Given the description of an element on the screen output the (x, y) to click on. 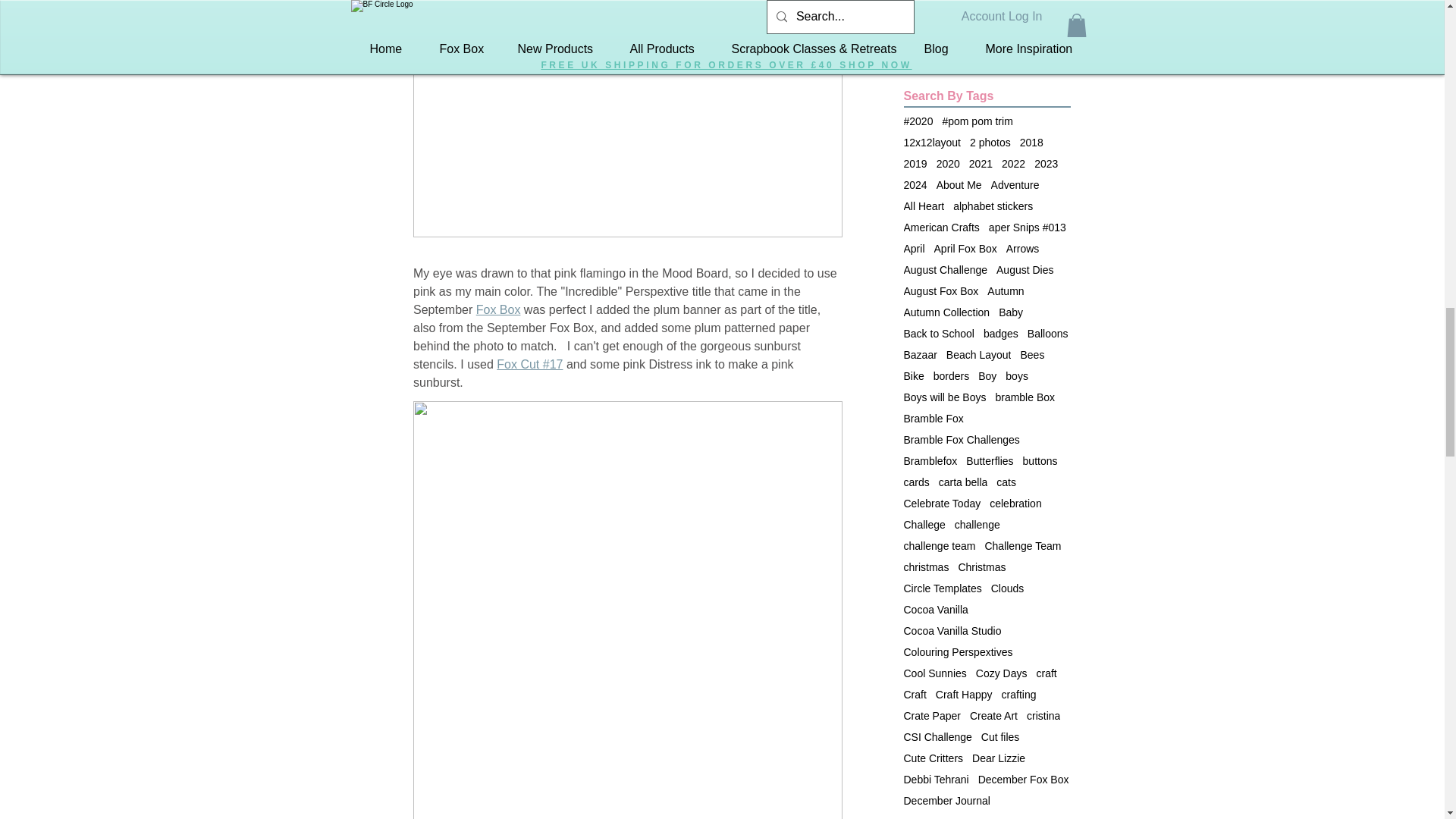
Fox Box (497, 309)
